Given the description of an element on the screen output the (x, y) to click on. 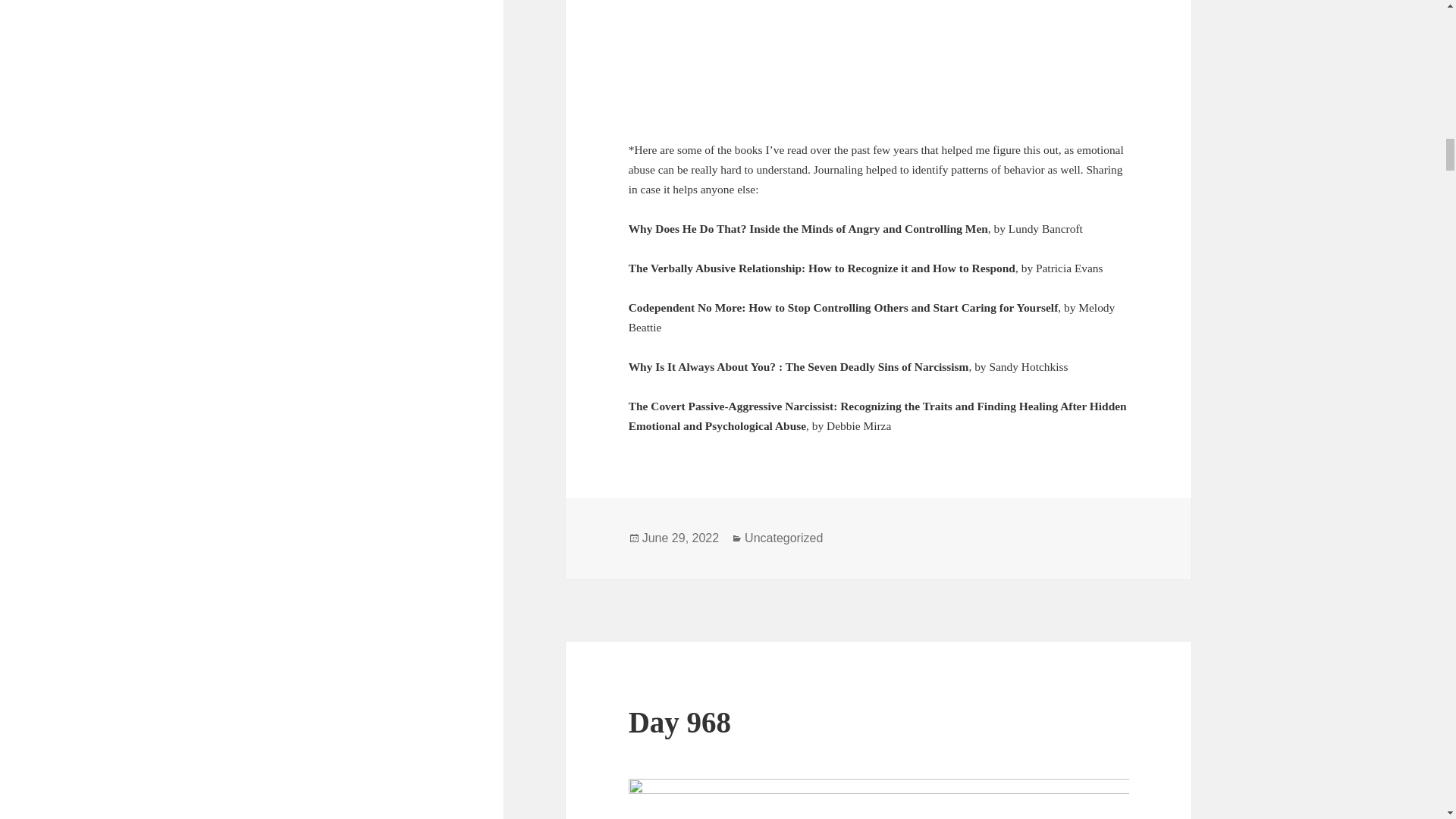
June 29, 2022 (680, 538)
Uncategorized (783, 538)
Ciara - "I Love Myself" ft Macklemore (878, 57)
